Given the description of an element on the screen output the (x, y) to click on. 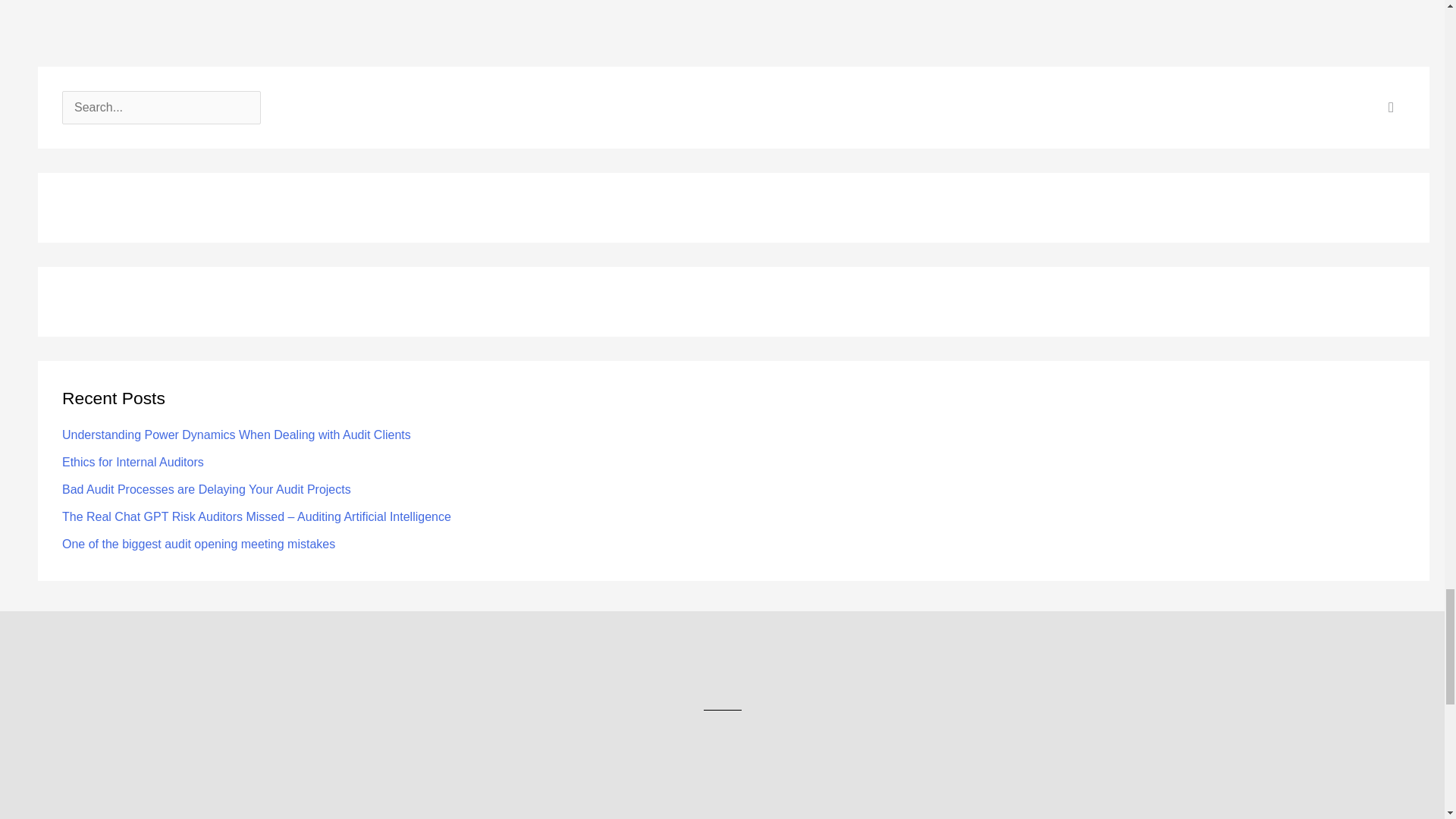
Search (1388, 111)
Search (1388, 111)
